Given the description of an element on the screen output the (x, y) to click on. 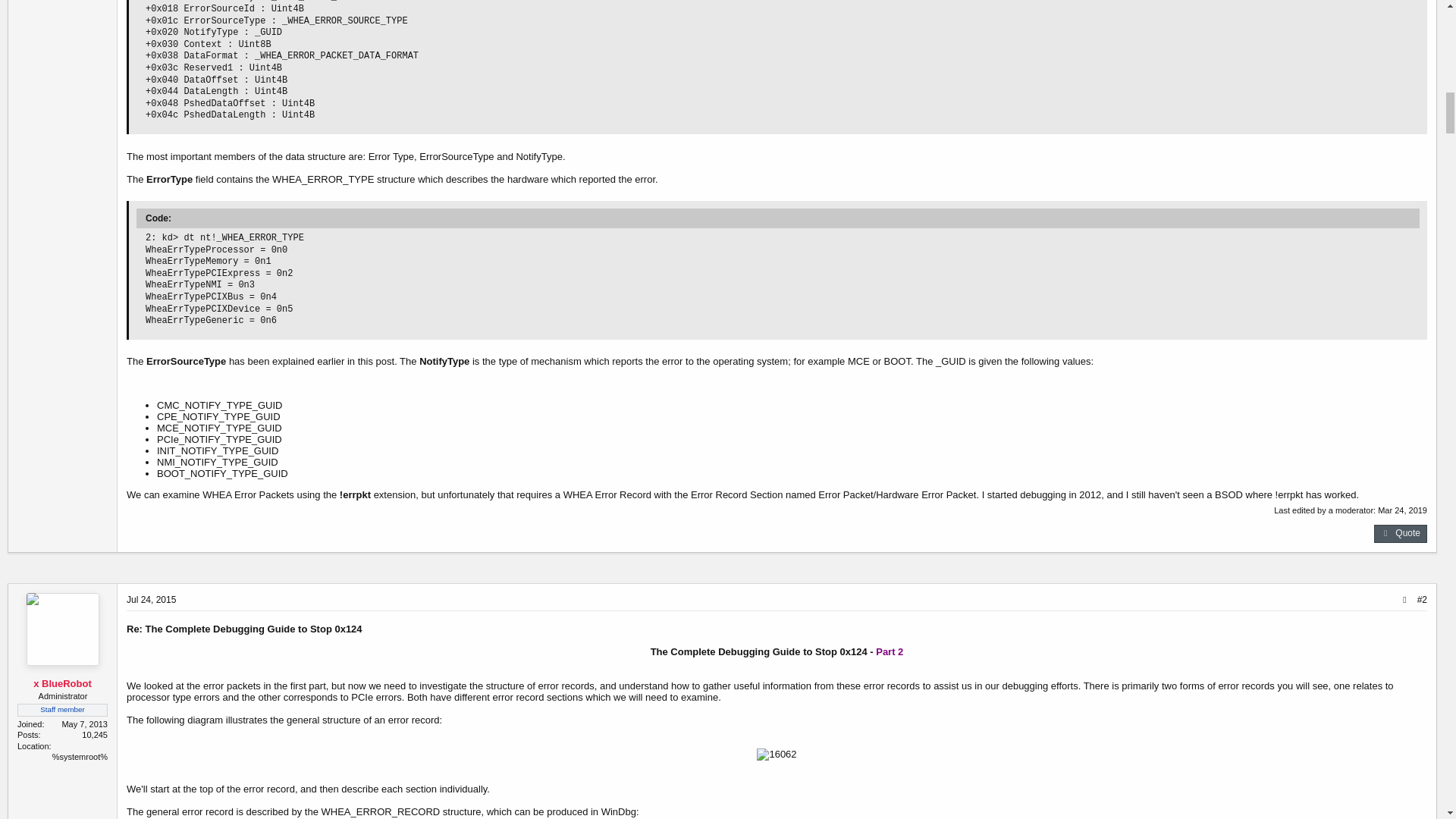
Mar 24, 2019 at 1:56 PM (1401, 510)
Quote (1400, 533)
16062 (776, 754)
Reply, quoting this message (1400, 533)
Jul 24, 2015 at 3:54 PM (151, 599)
